Given the description of an element on the screen output the (x, y) to click on. 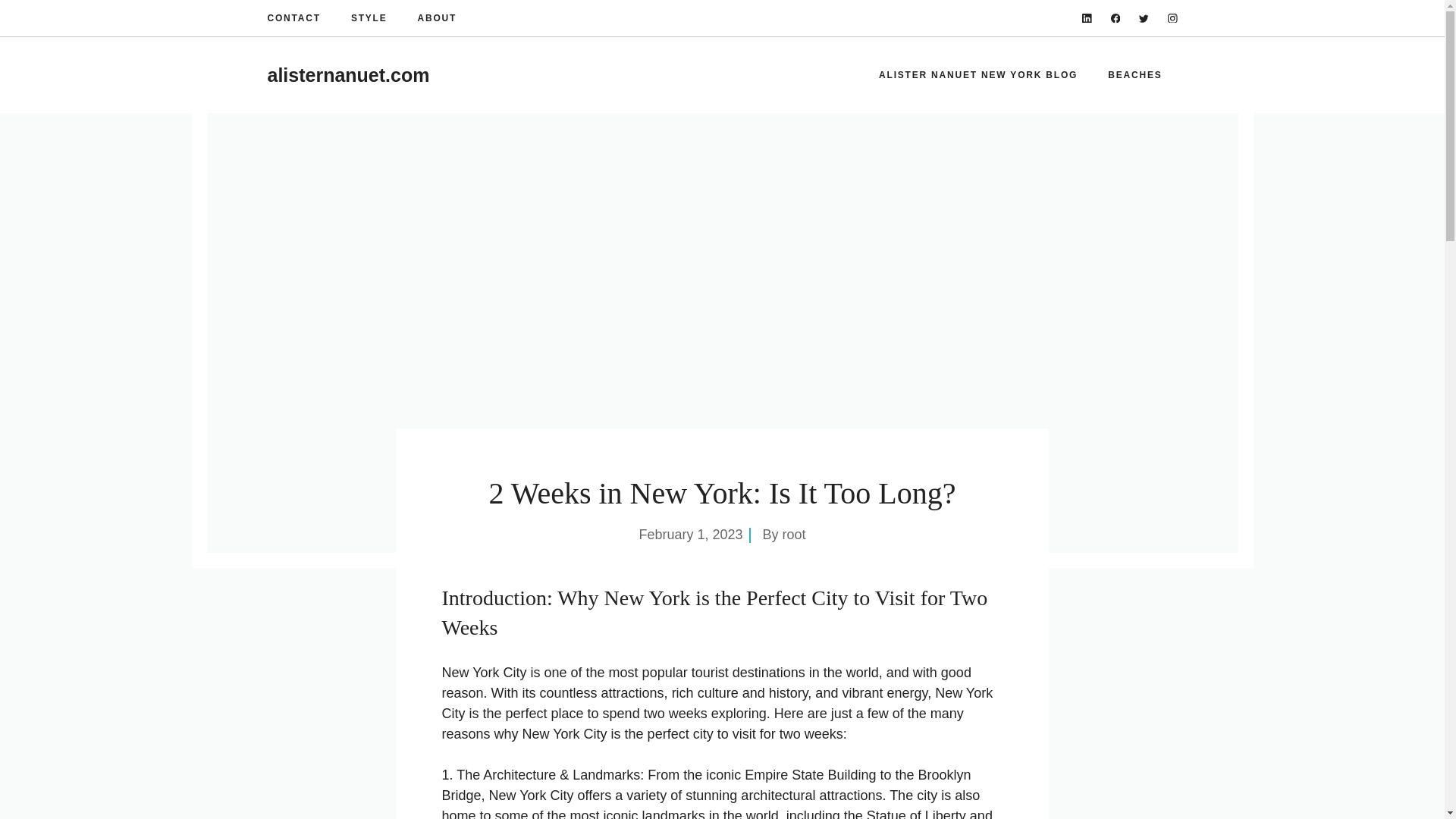
BEACHES (1134, 74)
root (794, 534)
alisternanuet.com (347, 74)
ABOUT (437, 18)
STYLE (368, 18)
CONTACT (293, 18)
ALISTER NANUET NEW YORK BLOG (978, 74)
